Given the description of an element on the screen output the (x, y) to click on. 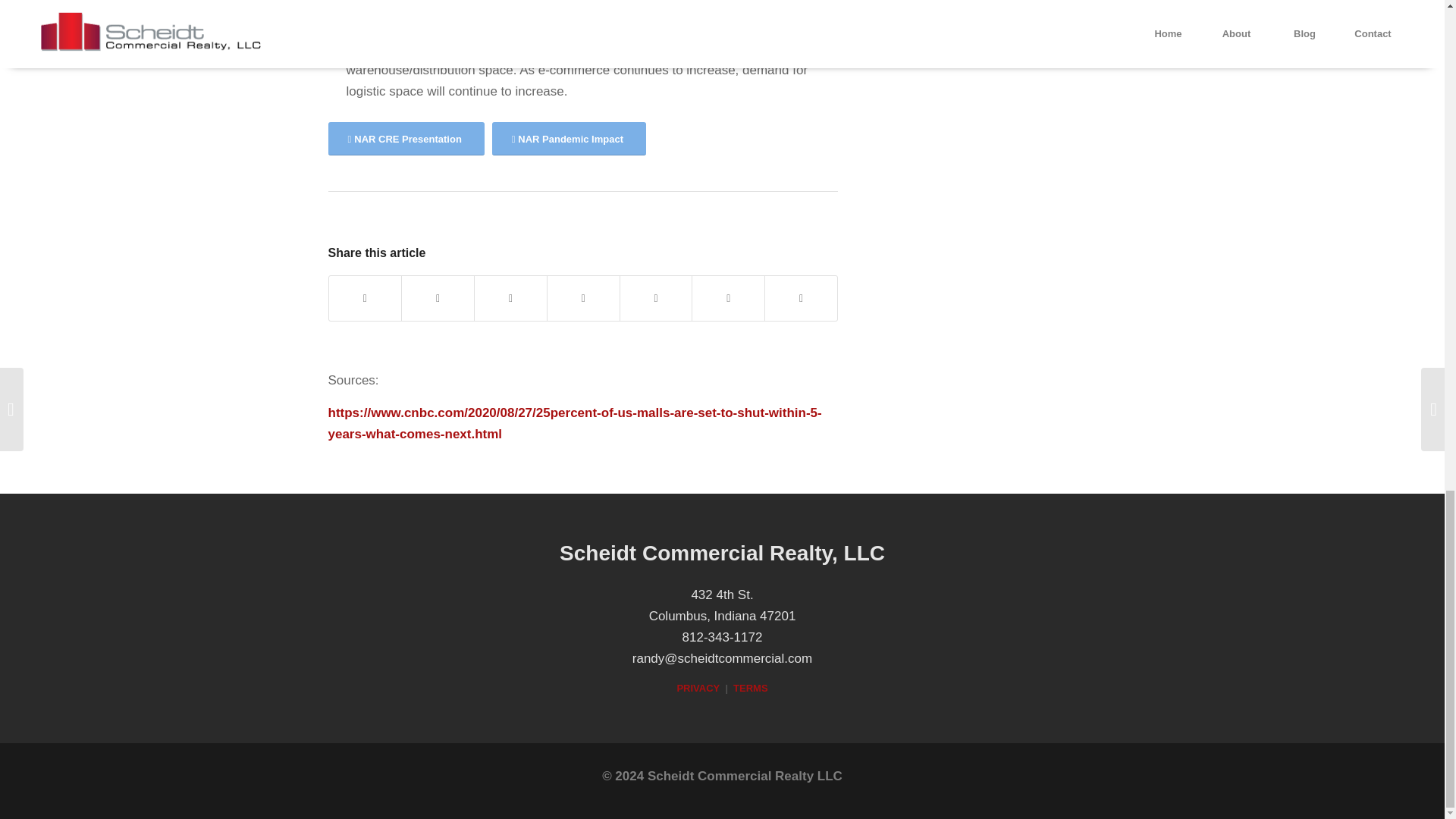
NAR CRE Presentation (405, 139)
NAR Pandemic Impact (569, 139)
TERMS (750, 687)
PRIVACY (698, 687)
